Given the description of an element on the screen output the (x, y) to click on. 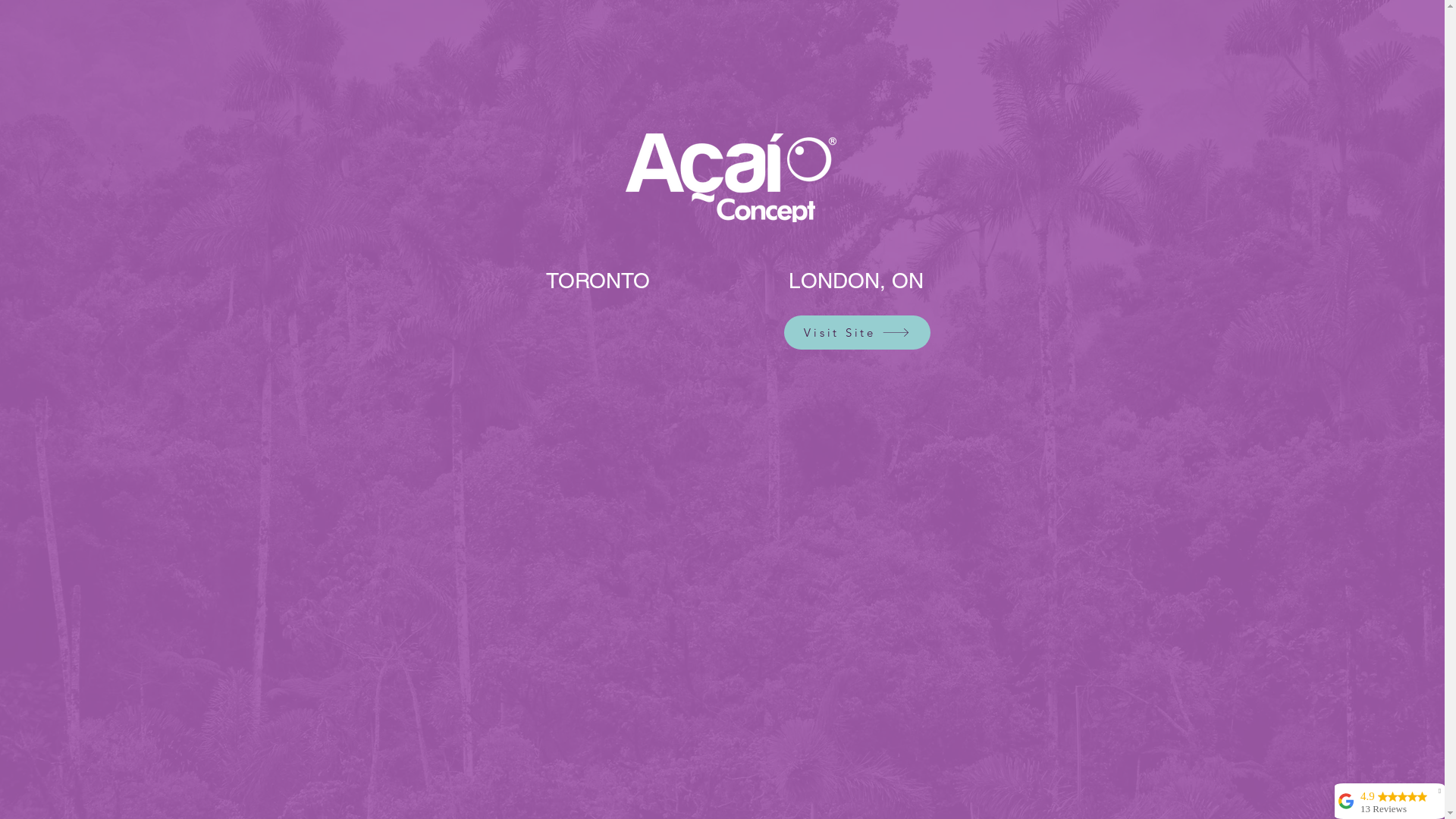
LONDON, ON Element type: text (855, 280)
Visit Site Element type: text (857, 332)
